Given the description of an element on the screen output the (x, y) to click on. 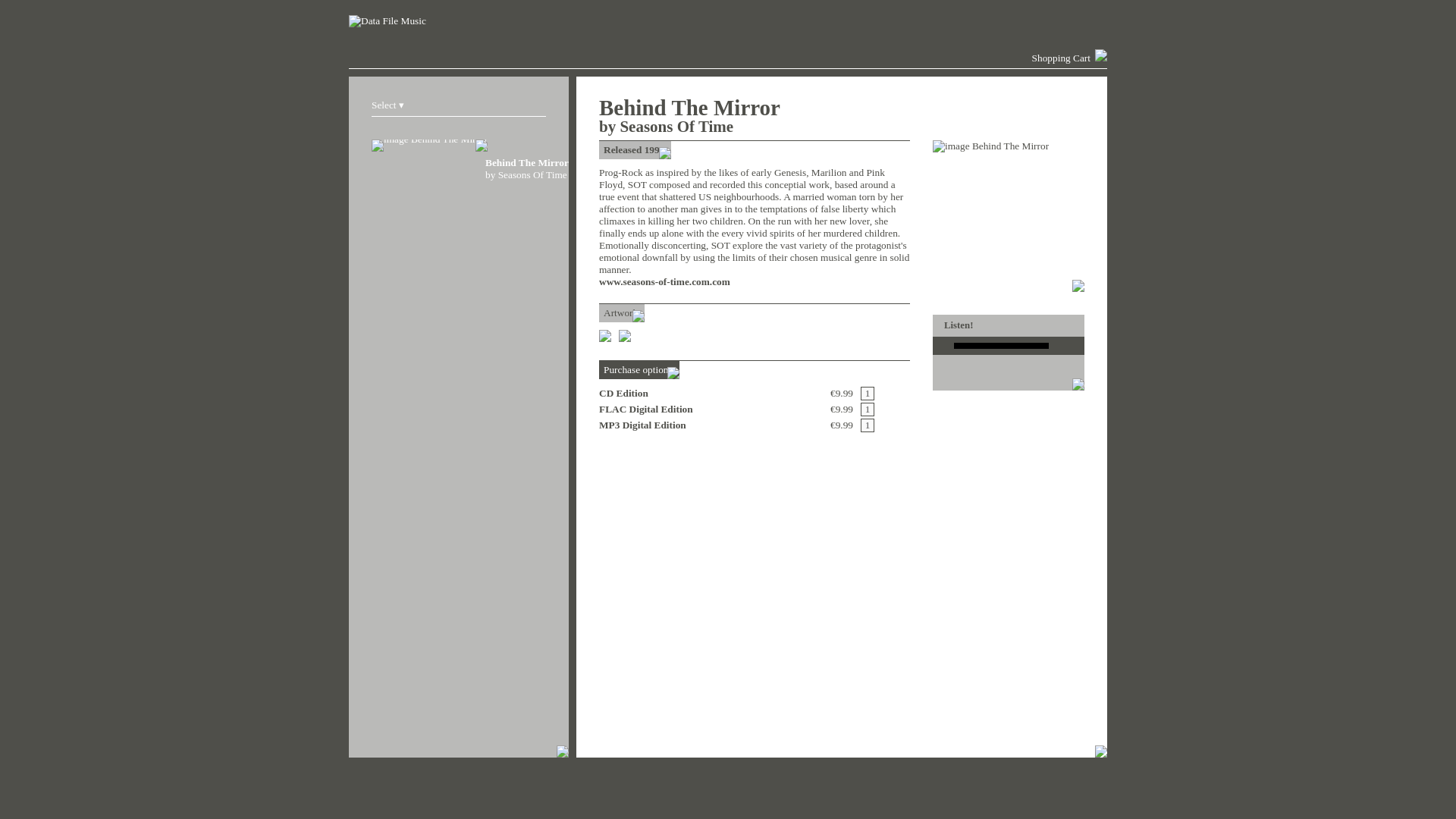
1 (867, 393)
1 (481, 162)
Shopping Cart (867, 408)
